Given the description of an element on the screen output the (x, y) to click on. 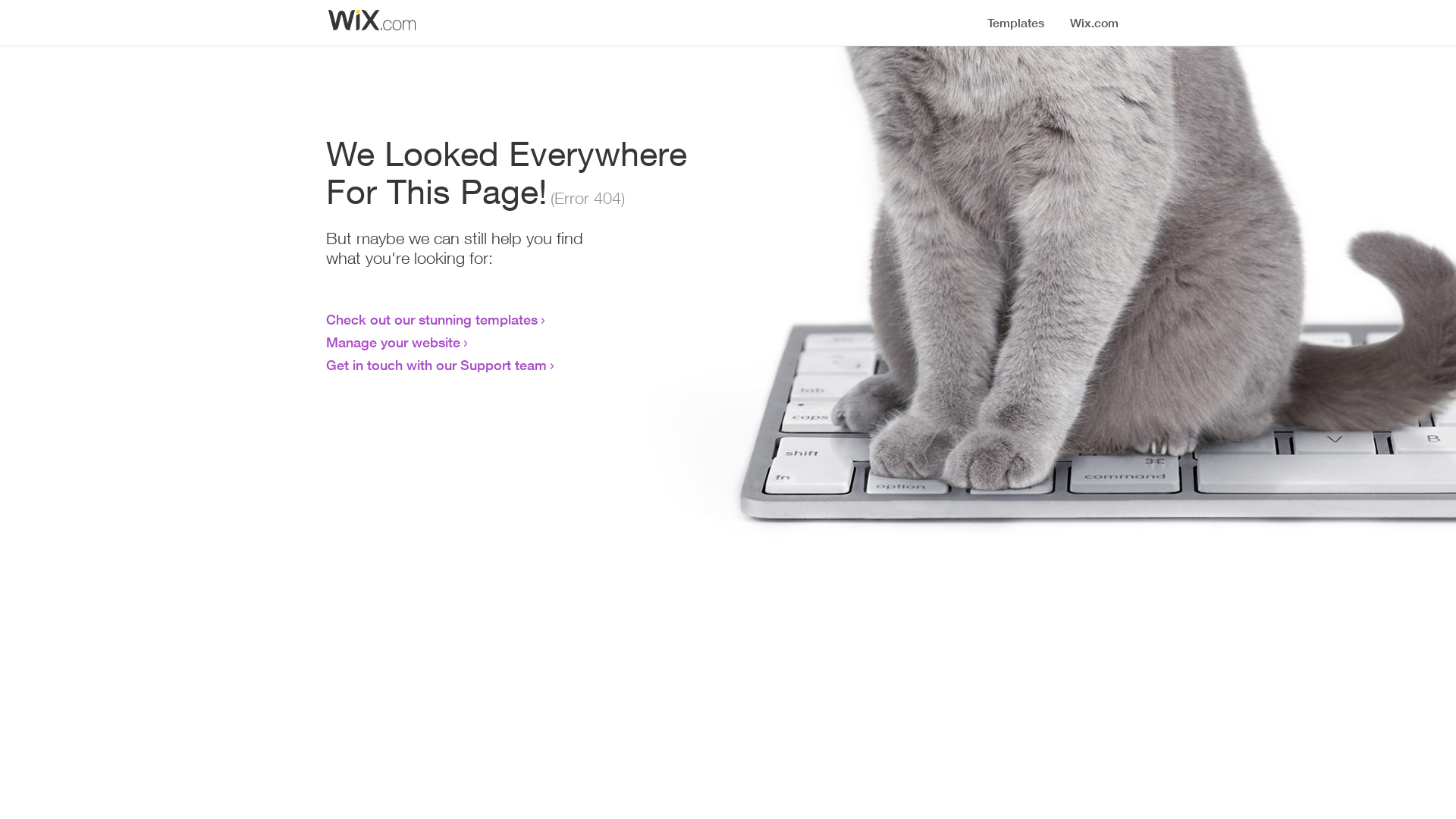
Manage your website Element type: text (393, 341)
Get in touch with our Support team Element type: text (436, 364)
Check out our stunning templates Element type: text (431, 318)
